Given the description of an element on the screen output the (x, y) to click on. 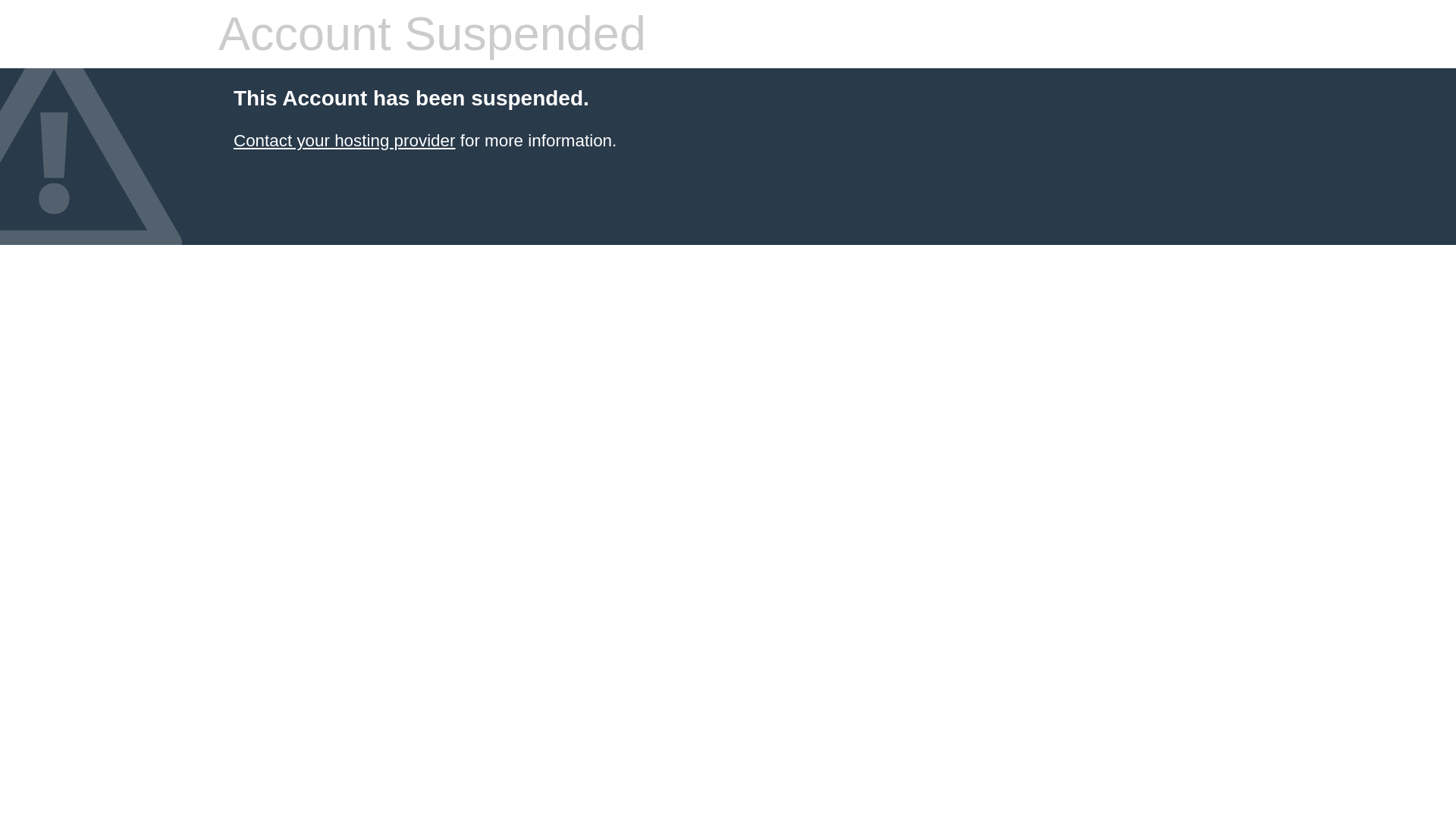
Contact your hosting provider (343, 140)
